Given the description of an element on the screen output the (x, y) to click on. 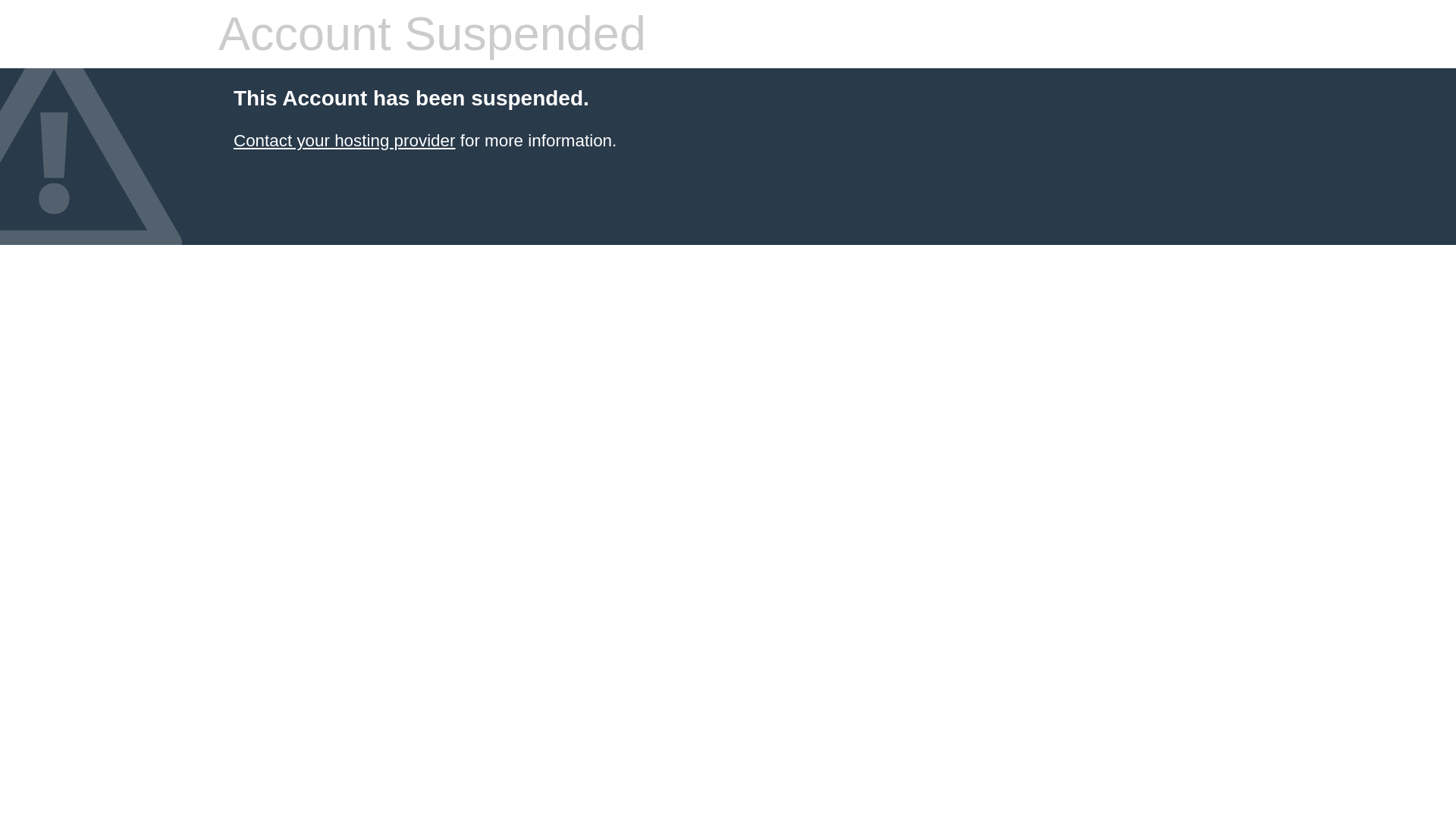
Contact your hosting provider (343, 140)
